Given the description of an element on the screen output the (x, y) to click on. 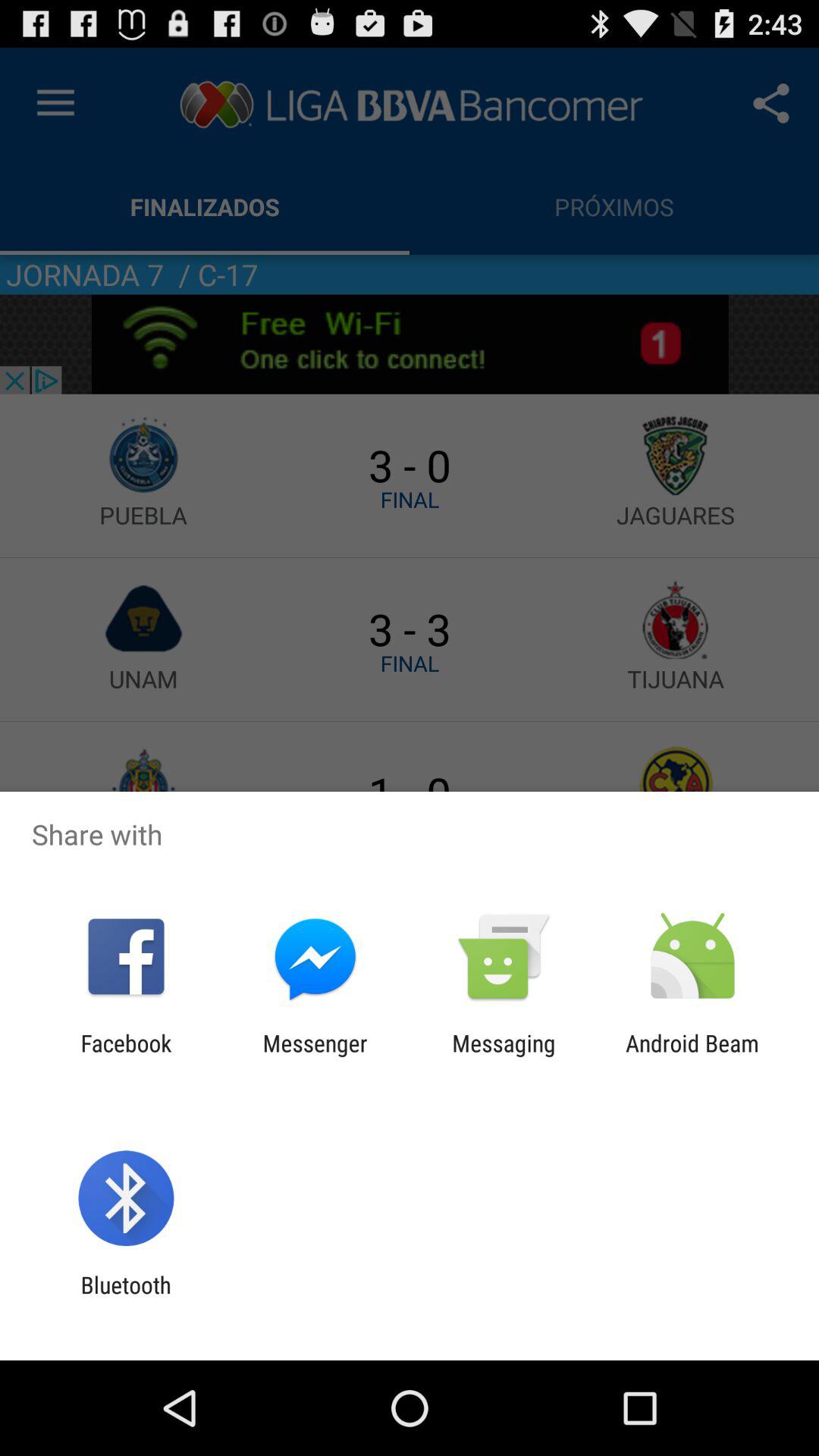
open the android beam item (692, 1056)
